Given the description of an element on the screen output the (x, y) to click on. 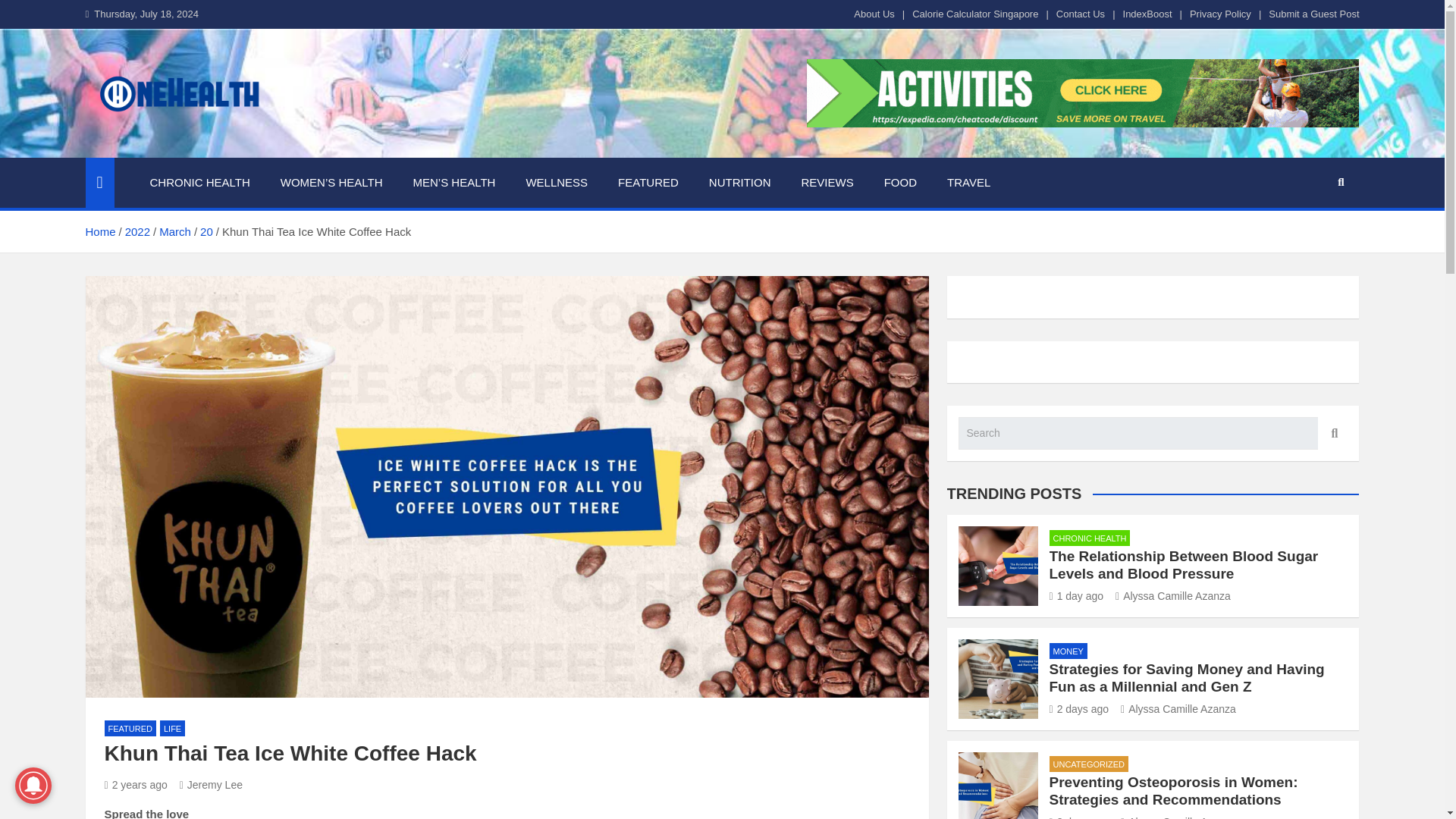
FEATURED (129, 728)
Home (99, 231)
FOOD (900, 183)
REVIEWS (826, 183)
Privacy Policy (1219, 13)
March (174, 231)
NUTRITION (740, 183)
About Us (873, 13)
Submit a Guest Post (1313, 13)
20 (206, 231)
CHRONIC HEALTH (199, 183)
FEATURED (648, 183)
TRAVEL (968, 183)
Calorie Calculator Singapore (975, 13)
